Given the description of an element on the screen output the (x, y) to click on. 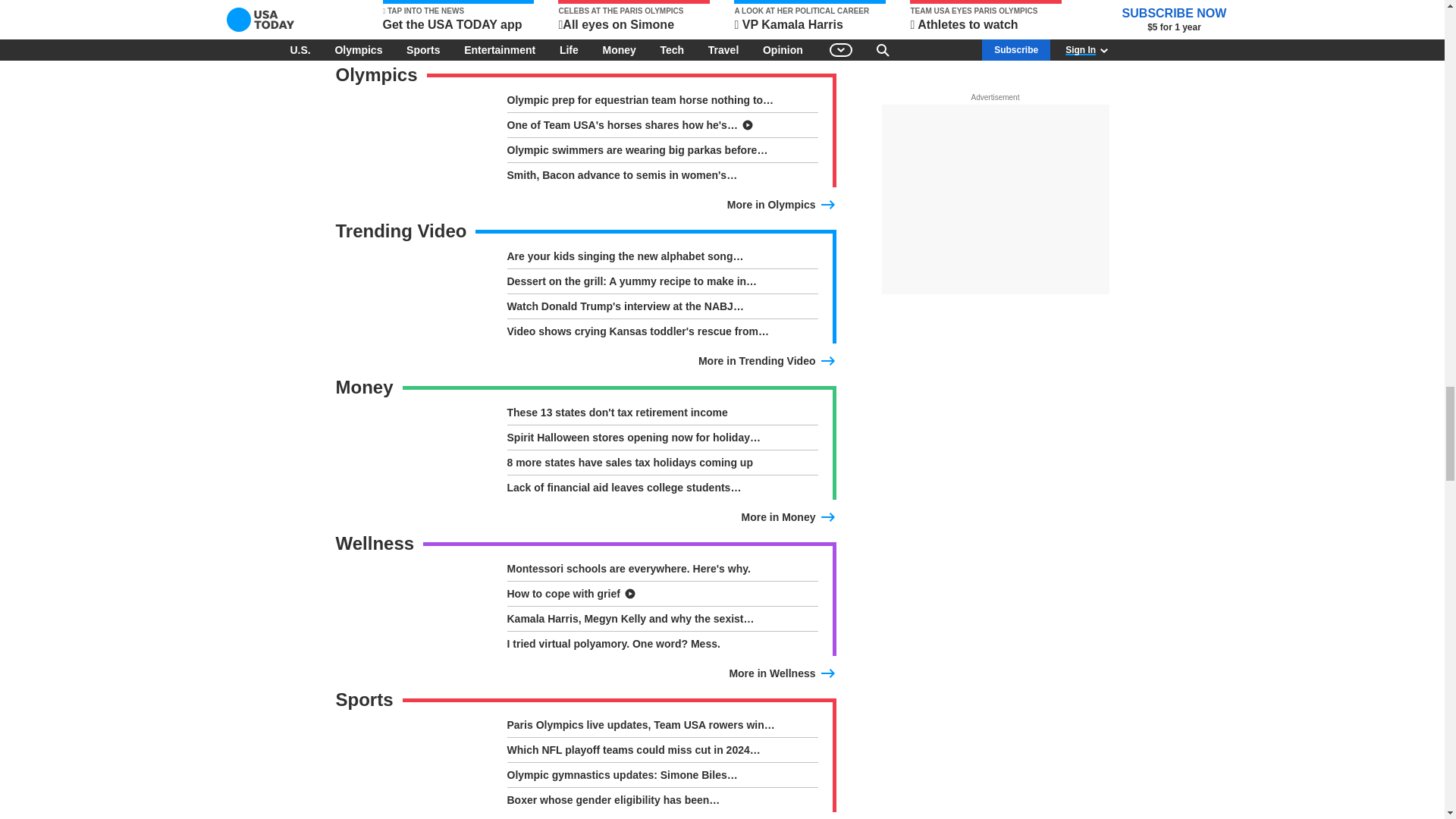
Harris and her VP pick to tour battleground states next week (661, 18)
